Given the description of an element on the screen output the (x, y) to click on. 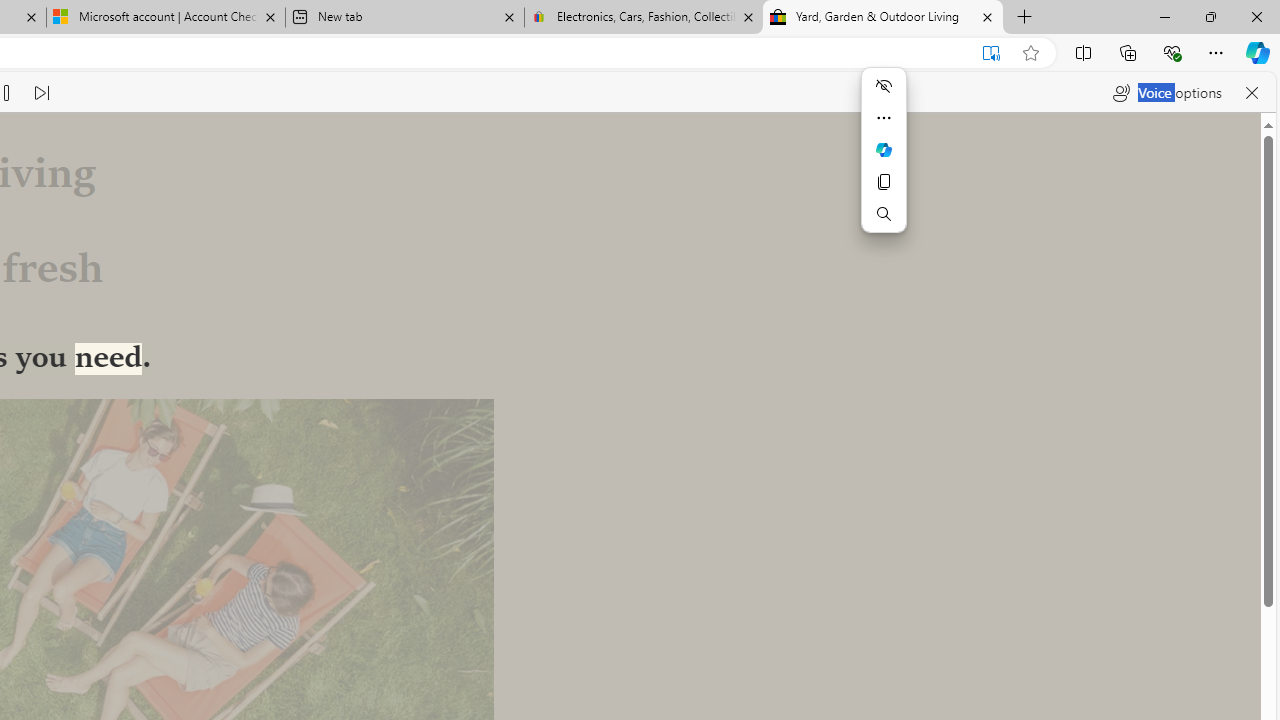
Ask Copilot (883, 149)
Hide menu (883, 85)
Exit Immersive Reader (F9) (991, 53)
More actions (883, 117)
Voice options (1167, 92)
Close read aloud (1252, 92)
